Given the description of an element on the screen output the (x, y) to click on. 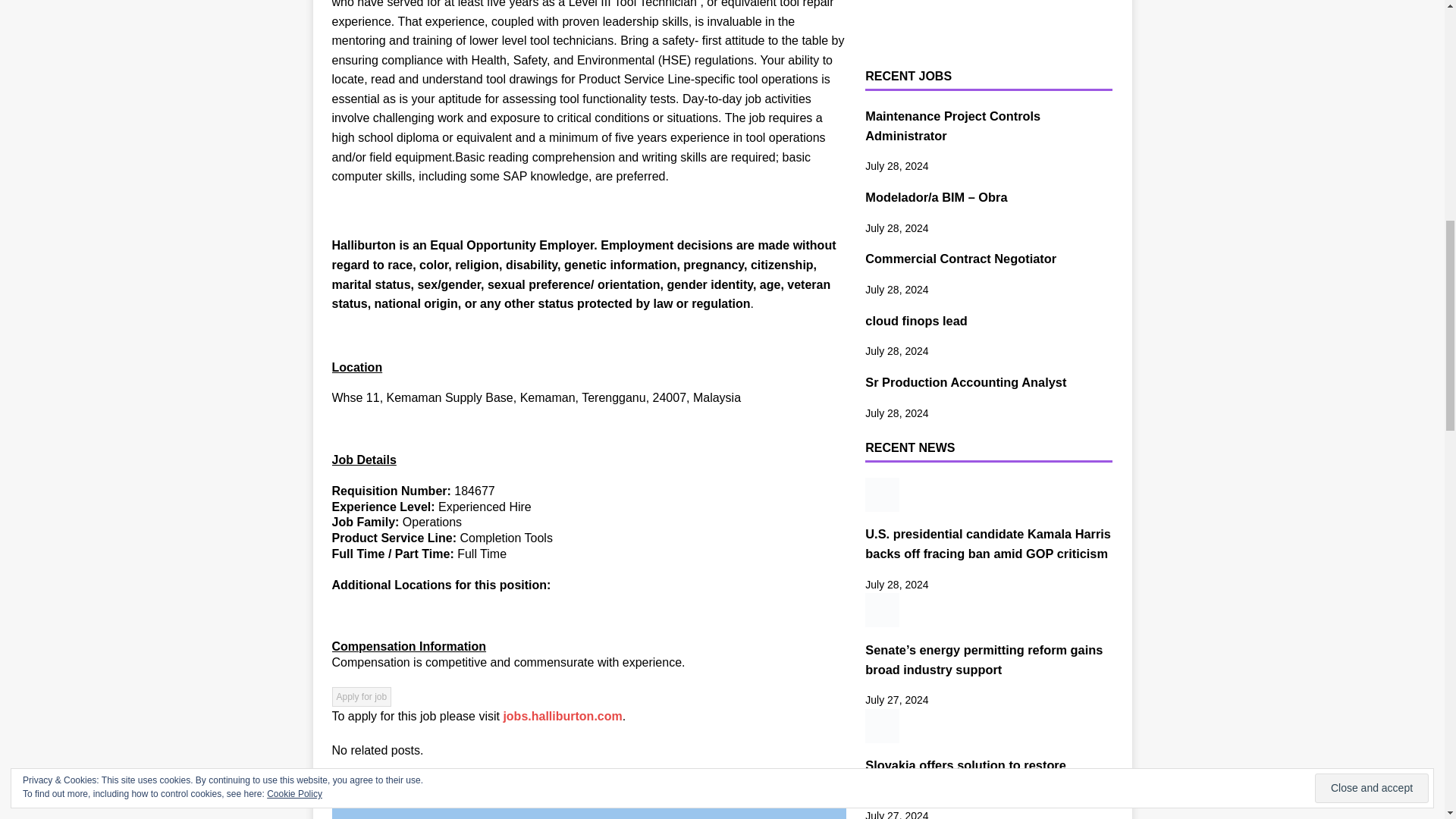
Apply for job (361, 696)
jobs.halliburton.com (561, 716)
